Given the description of an element on the screen output the (x, y) to click on. 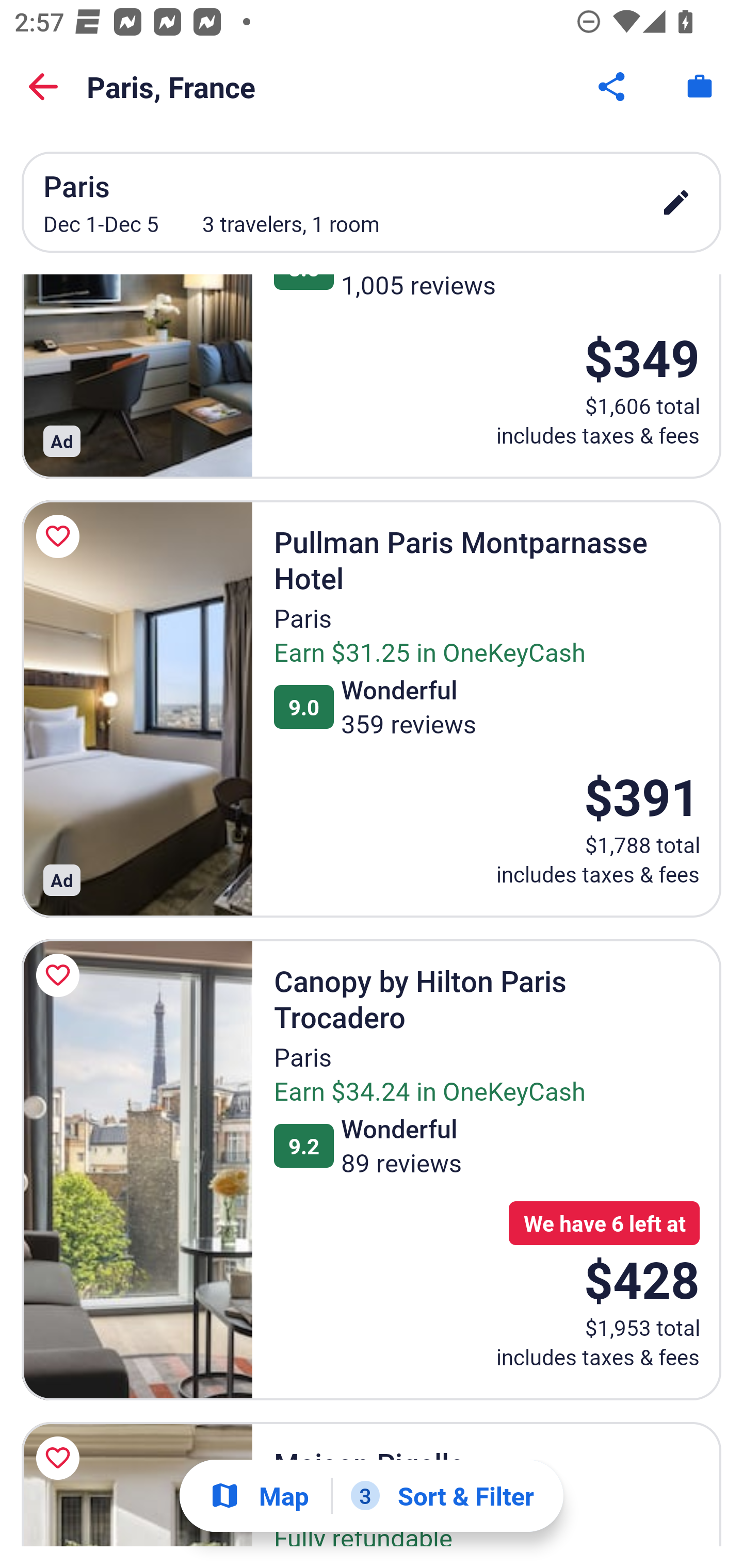
Back (43, 86)
Share Button (612, 86)
Trips. Button (699, 86)
Paris Dec 1-Dec 5 3 travelers, 1 room edit (371, 202)
Pullman Paris Tour Eiffel (136, 376)
Save Pullman Paris Montparnasse Hotel to a trip (61, 536)
Pullman Paris Montparnasse Hotel (136, 708)
Save Canopy by Hilton Paris Trocadero to a trip (61, 975)
Canopy by Hilton Paris Trocadero (136, 1169)
Save Maison Pigalle to a trip (61, 1458)
3 Sort & Filter 3 Filters applied. Filters Button (442, 1495)
Show map Map Show map Button (258, 1495)
